Given the description of an element on the screen output the (x, y) to click on. 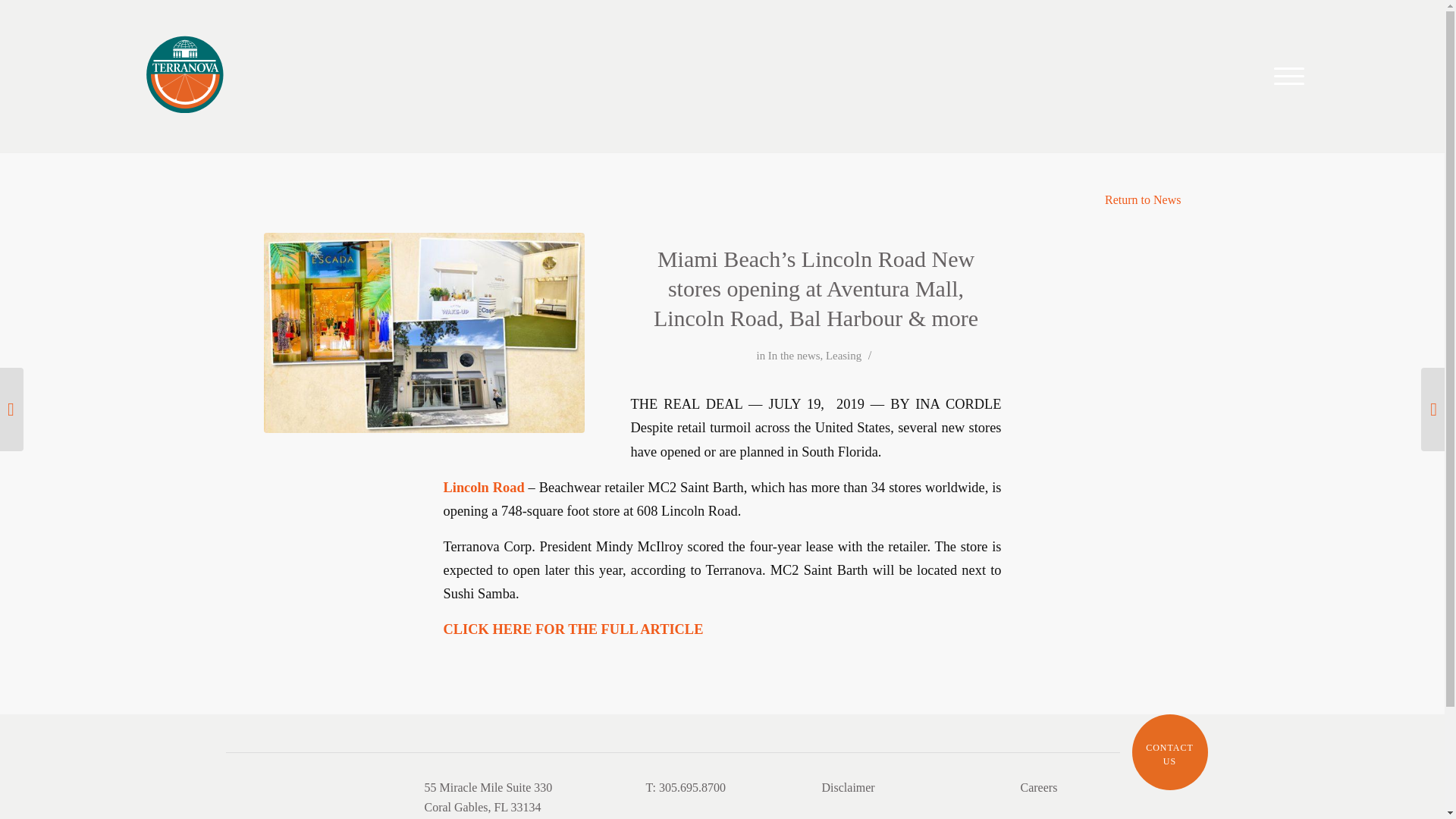
690-retial-roundup-620x386 (424, 332)
Disclaimer (1169, 754)
Return to News (848, 787)
Leasing (1142, 199)
Careers (843, 355)
In the news (1039, 787)
CLICK HERE FOR THE FULL ARTICLE (794, 355)
